Given the description of an element on the screen output the (x, y) to click on. 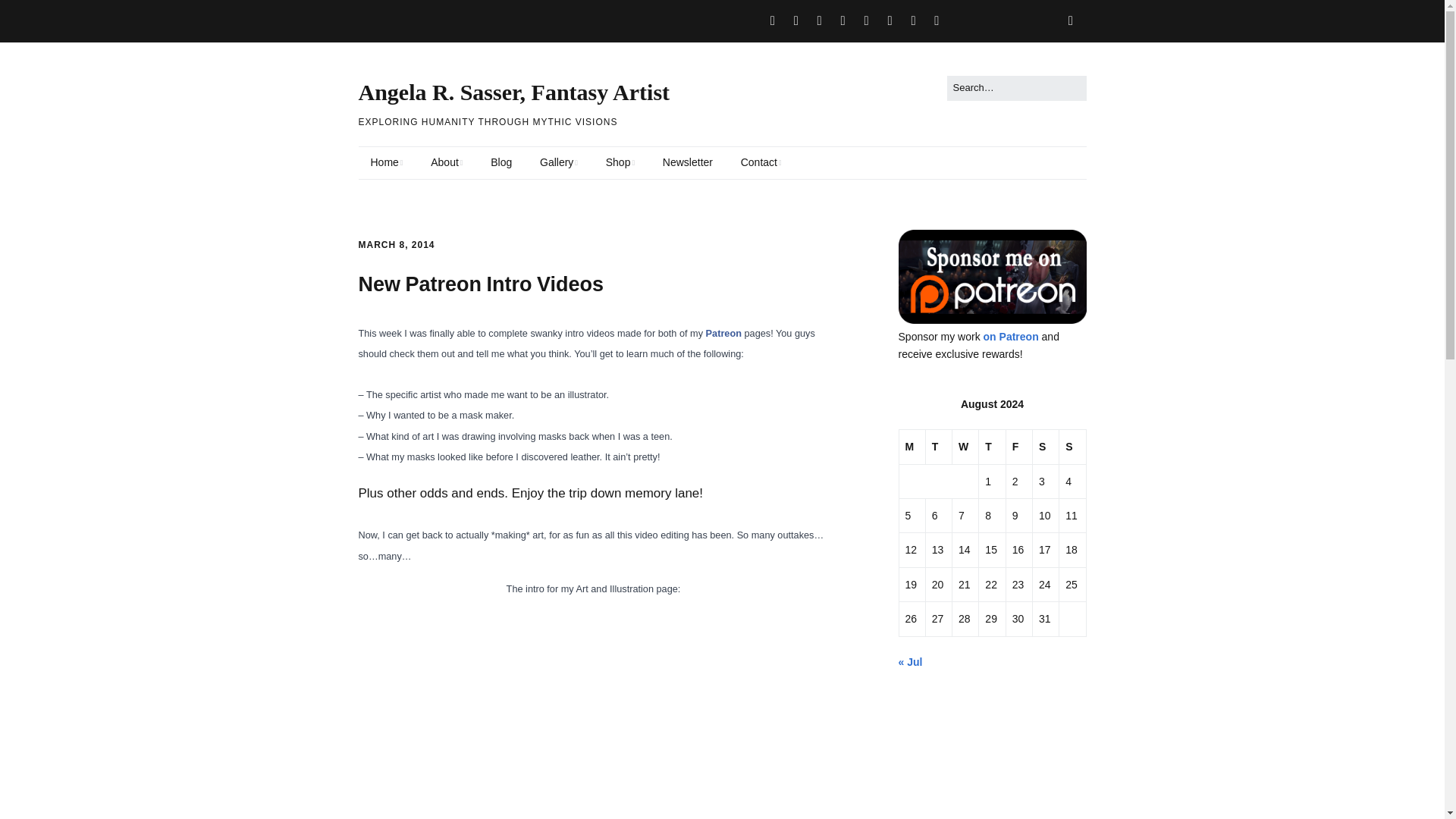
Press Enter to submit your search (1016, 88)
Gallery (558, 163)
Search (29, 15)
Blog (501, 163)
Angela R. Sasser, Fantasy Artist (513, 91)
About (446, 163)
Home (386, 163)
